Given the description of an element on the screen output the (x, y) to click on. 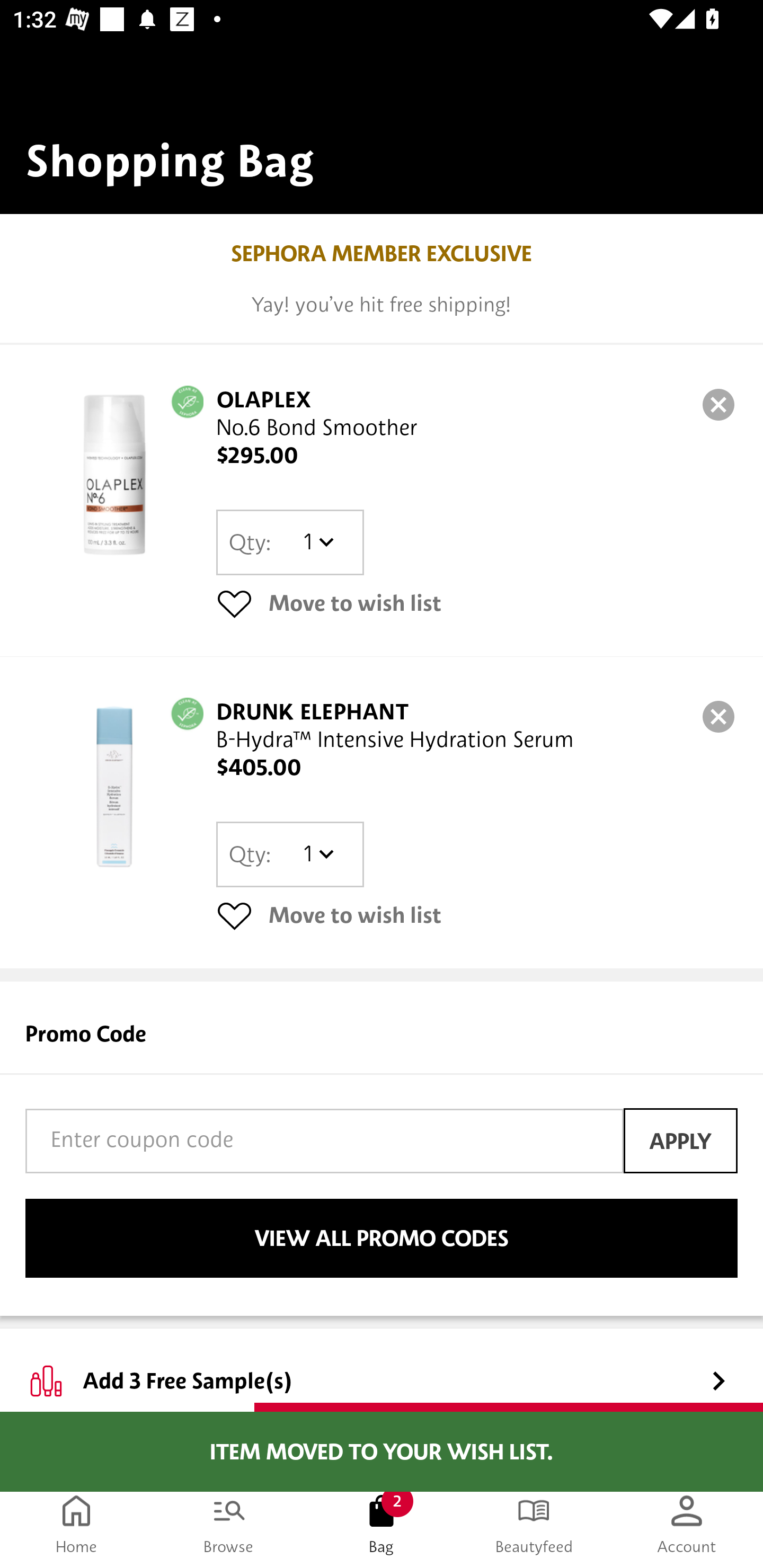
1 (317, 542)
Move to wish list (476, 602)
1 (317, 854)
Move to wish list (476, 914)
APPLY (680, 1140)
Enter coupon code (324, 1140)
VIEW ALL PROMO CODES (381, 1238)
Add 3 Free Sample(s) (381, 1365)
Home (76, 1523)
Browse (228, 1523)
Beautyfeed (533, 1523)
Account (686, 1523)
